Given the description of an element on the screen output the (x, y) to click on. 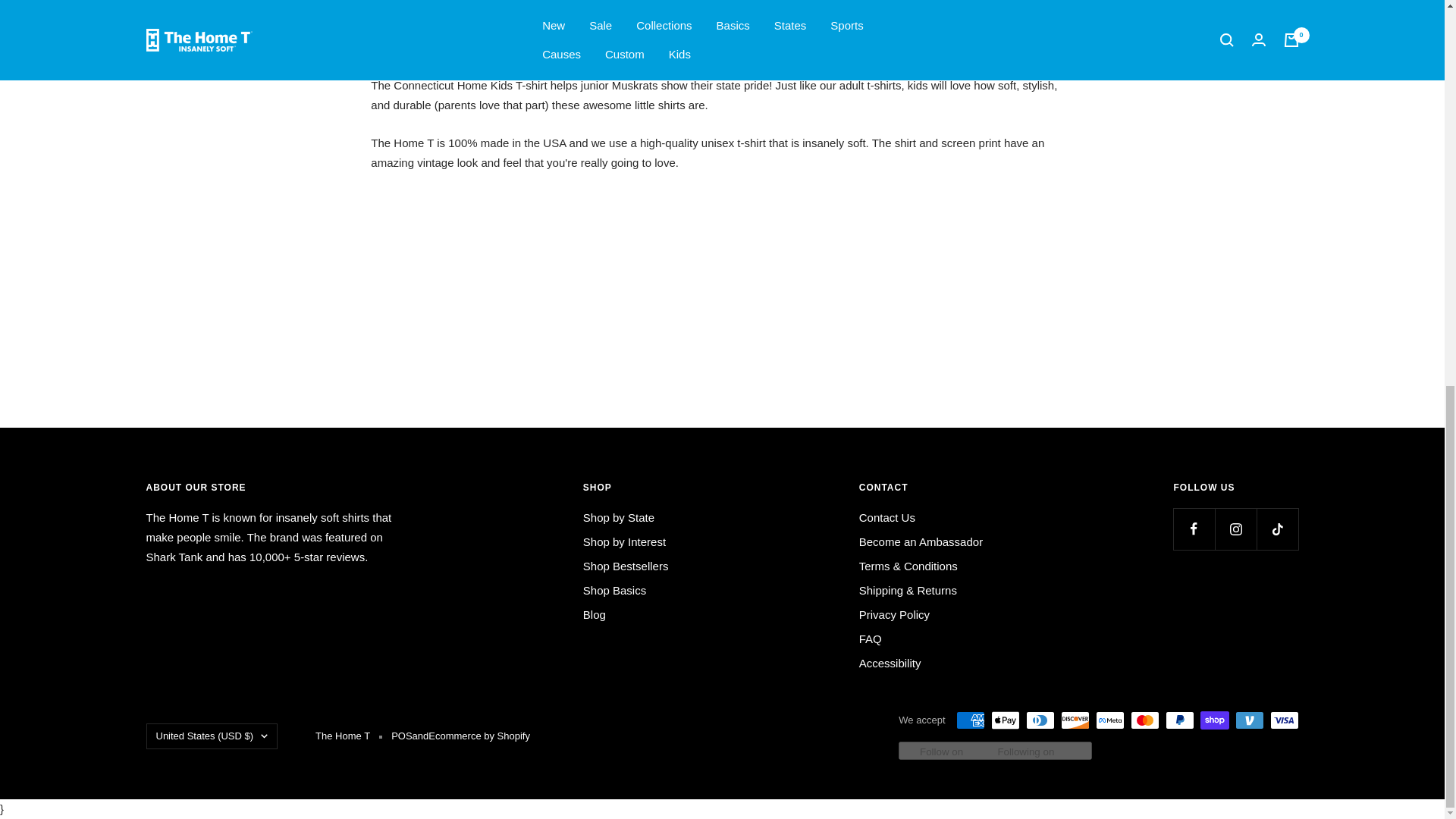
Shop by State (618, 517)
DESCRIPTION (406, 38)
Shop by Interest (624, 542)
Shop Bestsellers (625, 566)
